Given the description of an element on the screen output the (x, y) to click on. 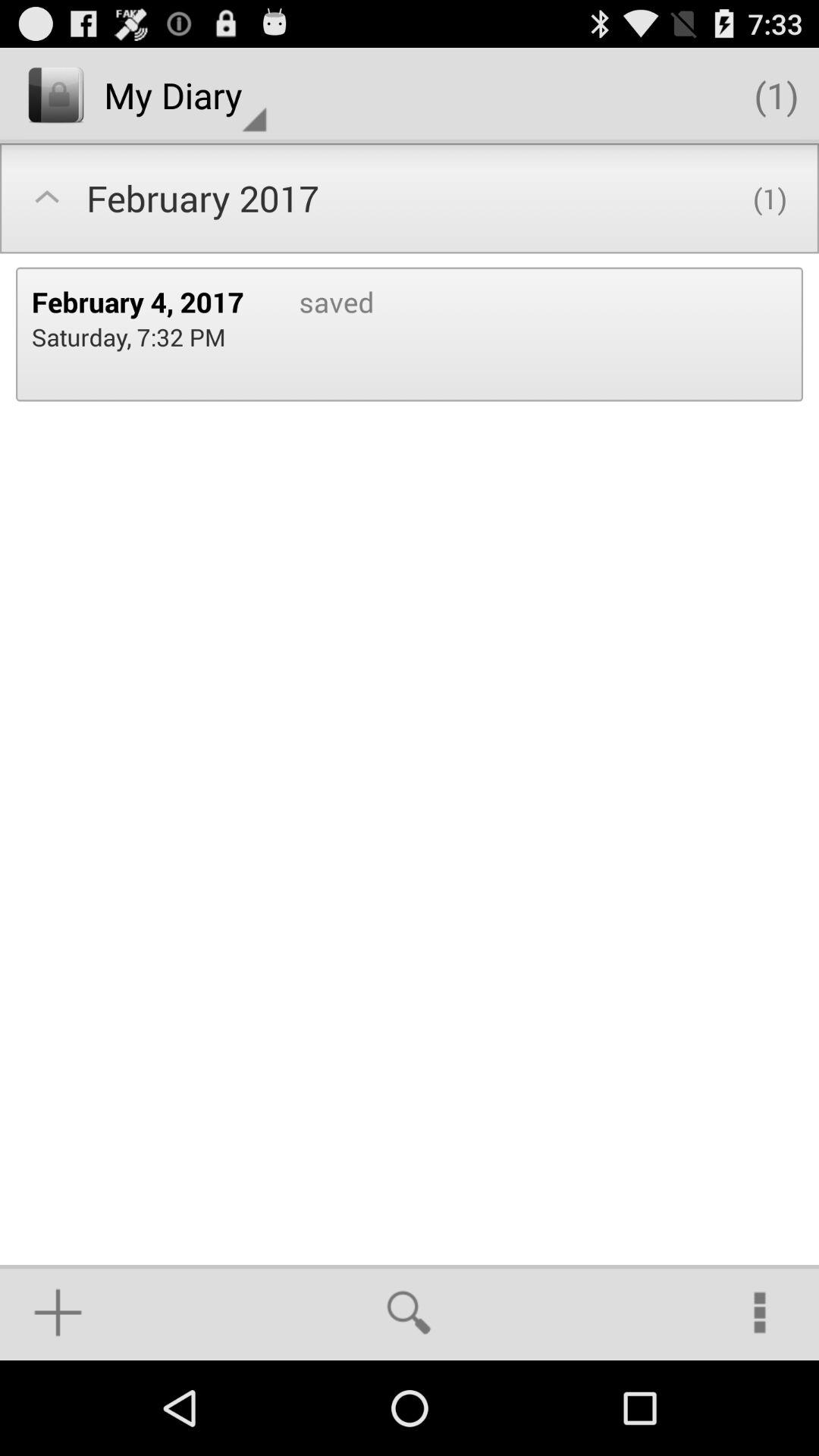
press item below saturday 7 32 (58, 1312)
